Given the description of an element on the screen output the (x, y) to click on. 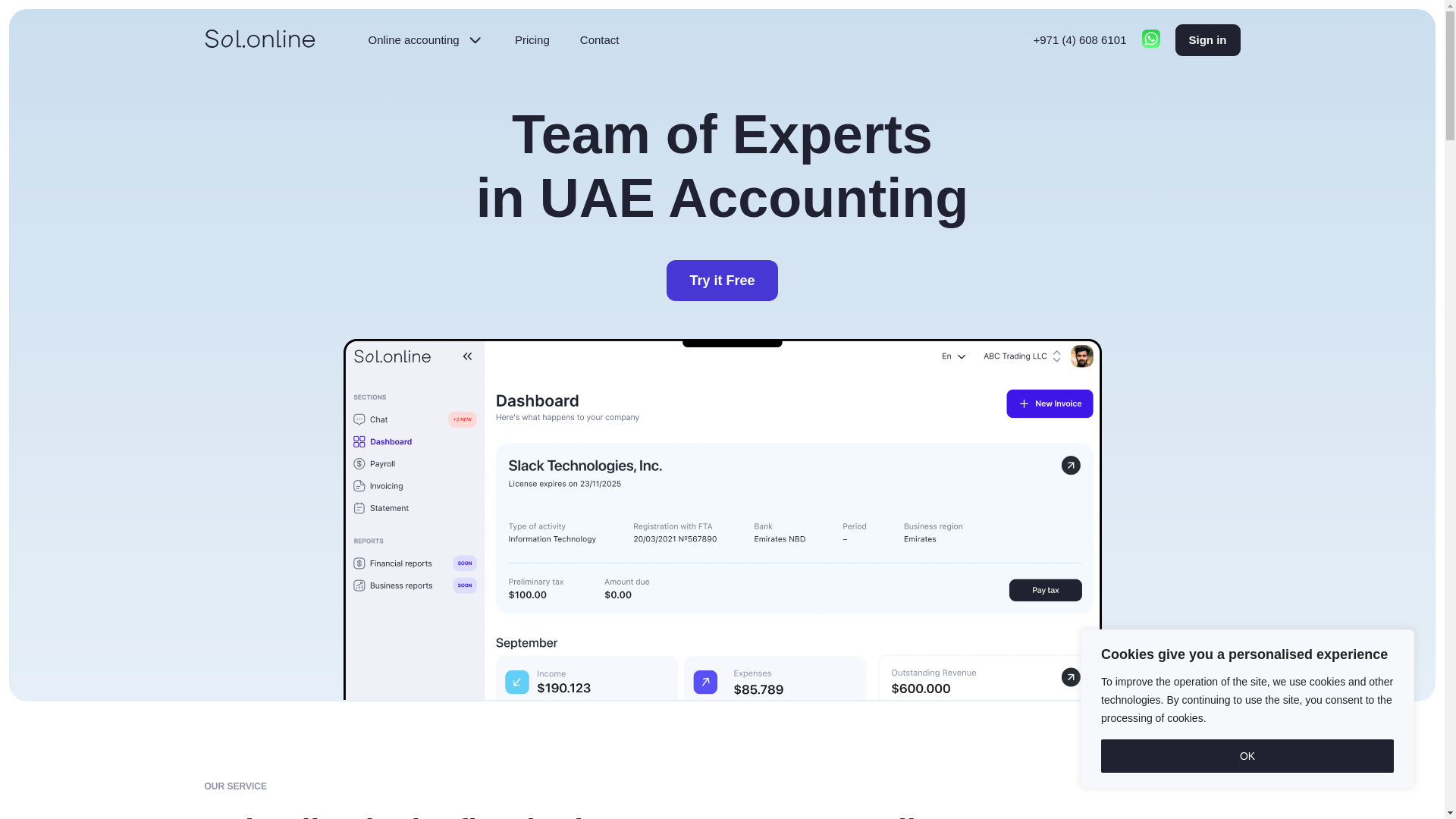
OK (1246, 756)
Try it Free (721, 280)
Pricing (531, 39)
Sign in (426, 39)
Contact (1207, 40)
